Given the description of an element on the screen output the (x, y) to click on. 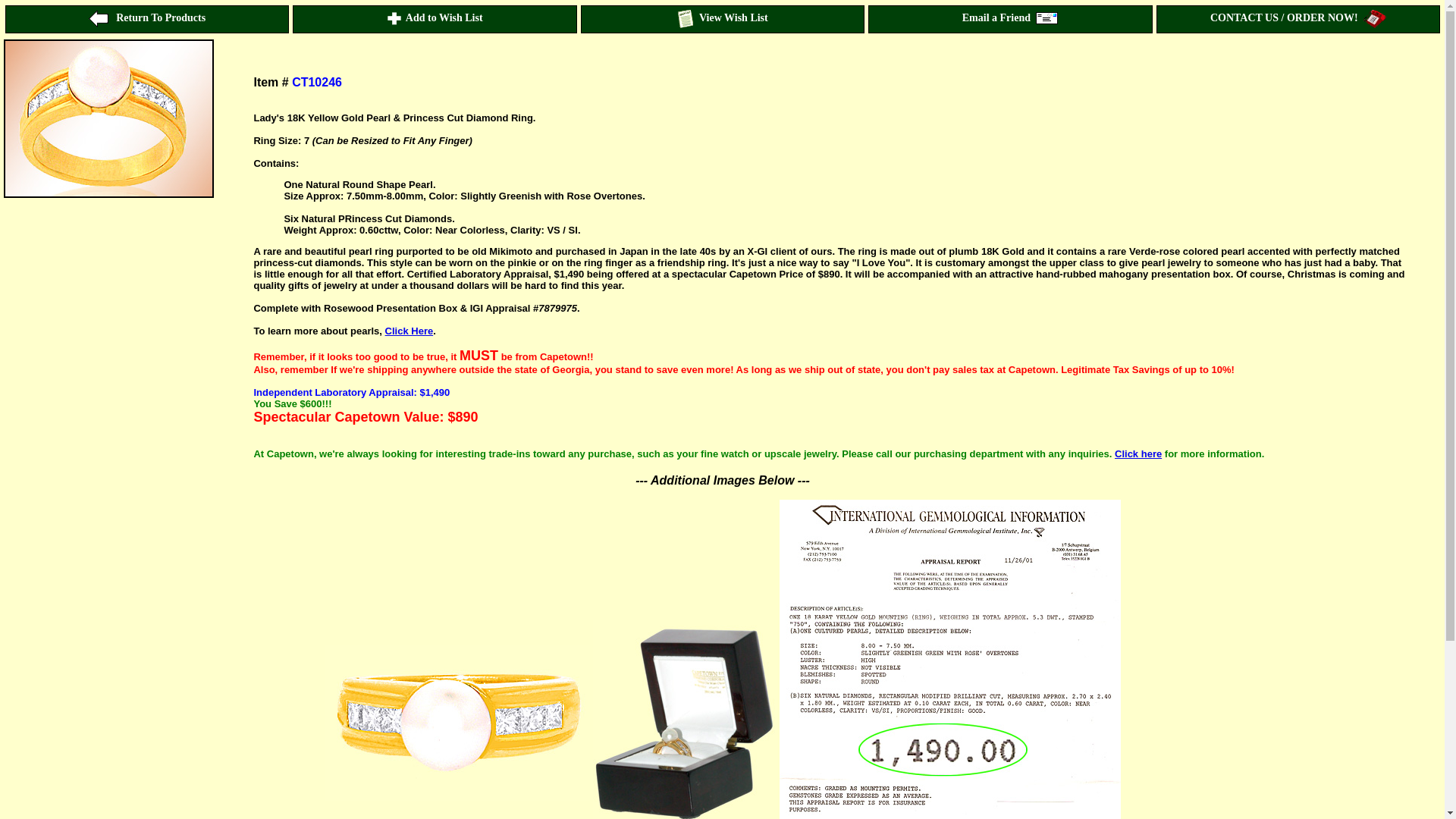
Click here (1138, 453)
  View Wish List (721, 18)
Click Here (409, 330)
  Return To Products (146, 18)
Email a Friend   (1010, 18)
  Add to Wish List (434, 18)
